Given the description of an element on the screen output the (x, y) to click on. 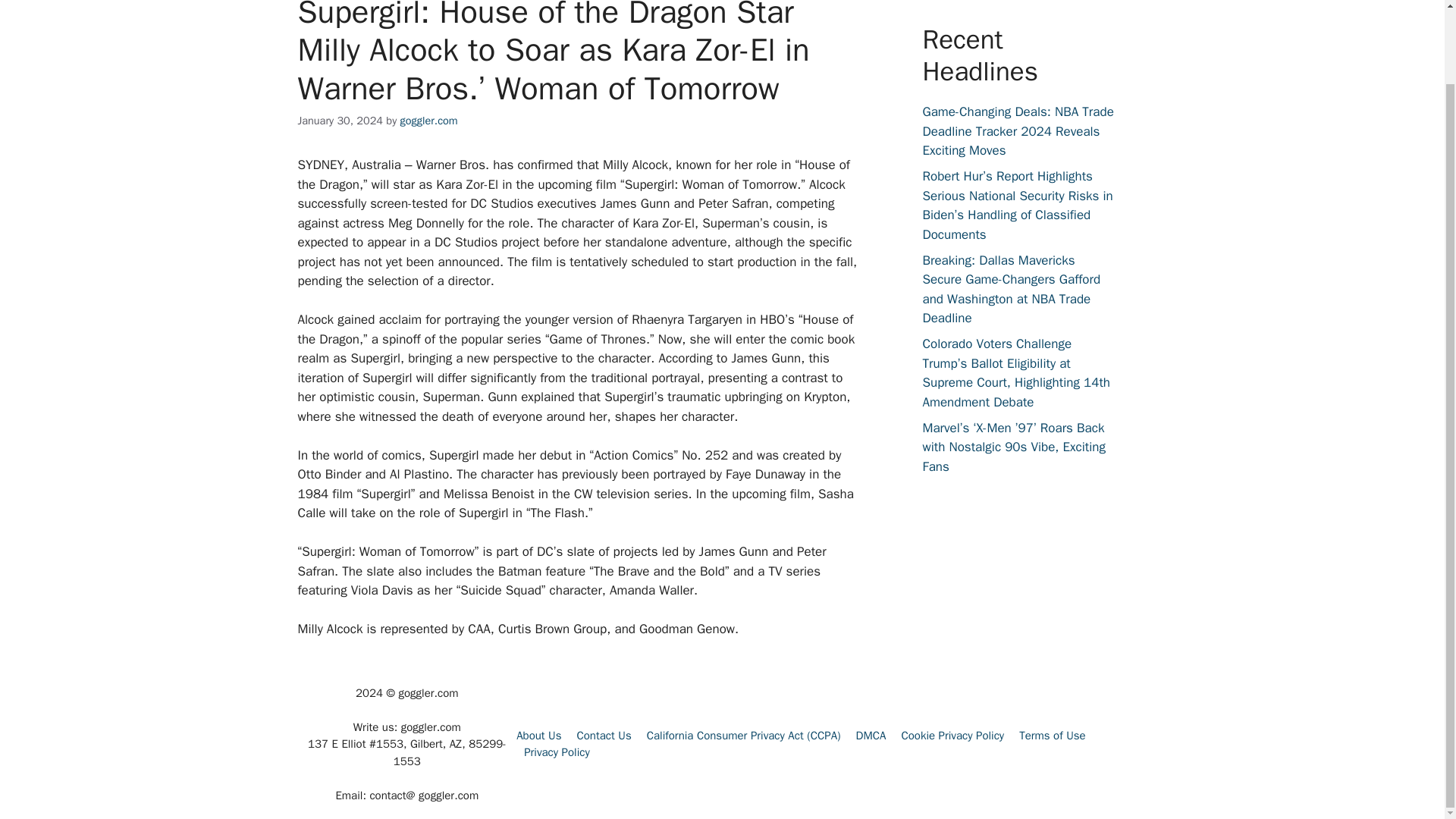
About Us (538, 735)
Cookie Privacy Policy (952, 735)
Terms of Use (1052, 735)
Privacy Policy (556, 752)
Contact Us (603, 735)
View all posts by goggler.com (429, 120)
goggler.com (429, 120)
DMCA (871, 735)
